Given the description of an element on the screen output the (x, y) to click on. 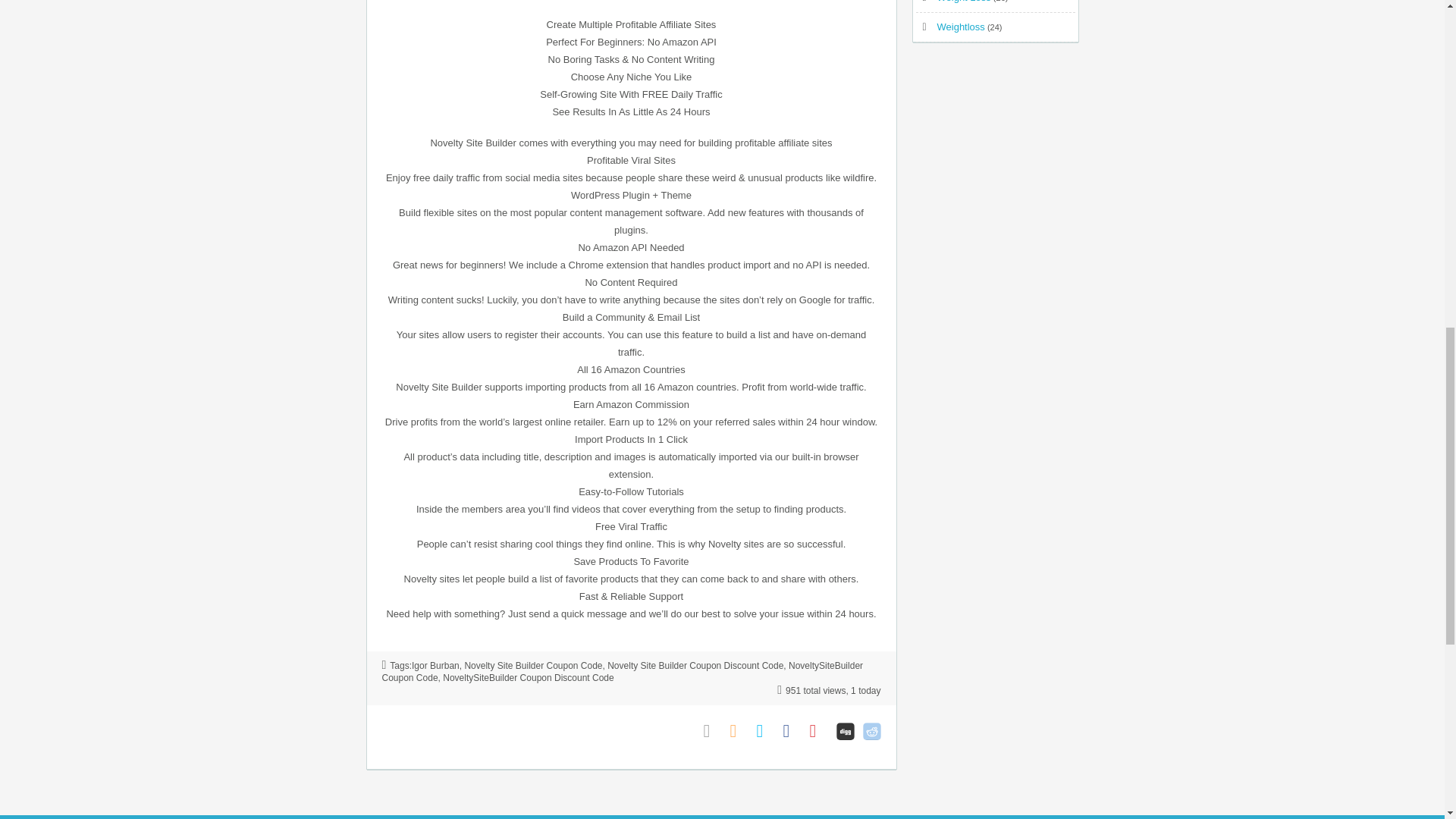
NoveltySiteBuilder Coupon Code (622, 671)
Twitter (765, 731)
Igor Burban (436, 665)
Reddit (871, 731)
Pinterest (818, 731)
Novelty Site Builder Coupon Discount Code (695, 665)
Coupon Comments RSS (738, 731)
Novelty Site Builder Coupon Code (533, 665)
NoveltySiteBuilder Coupon Discount Code (527, 677)
Email to Friend (712, 731)
Facebook (791, 731)
Digg (844, 731)
